Given the description of an element on the screen output the (x, y) to click on. 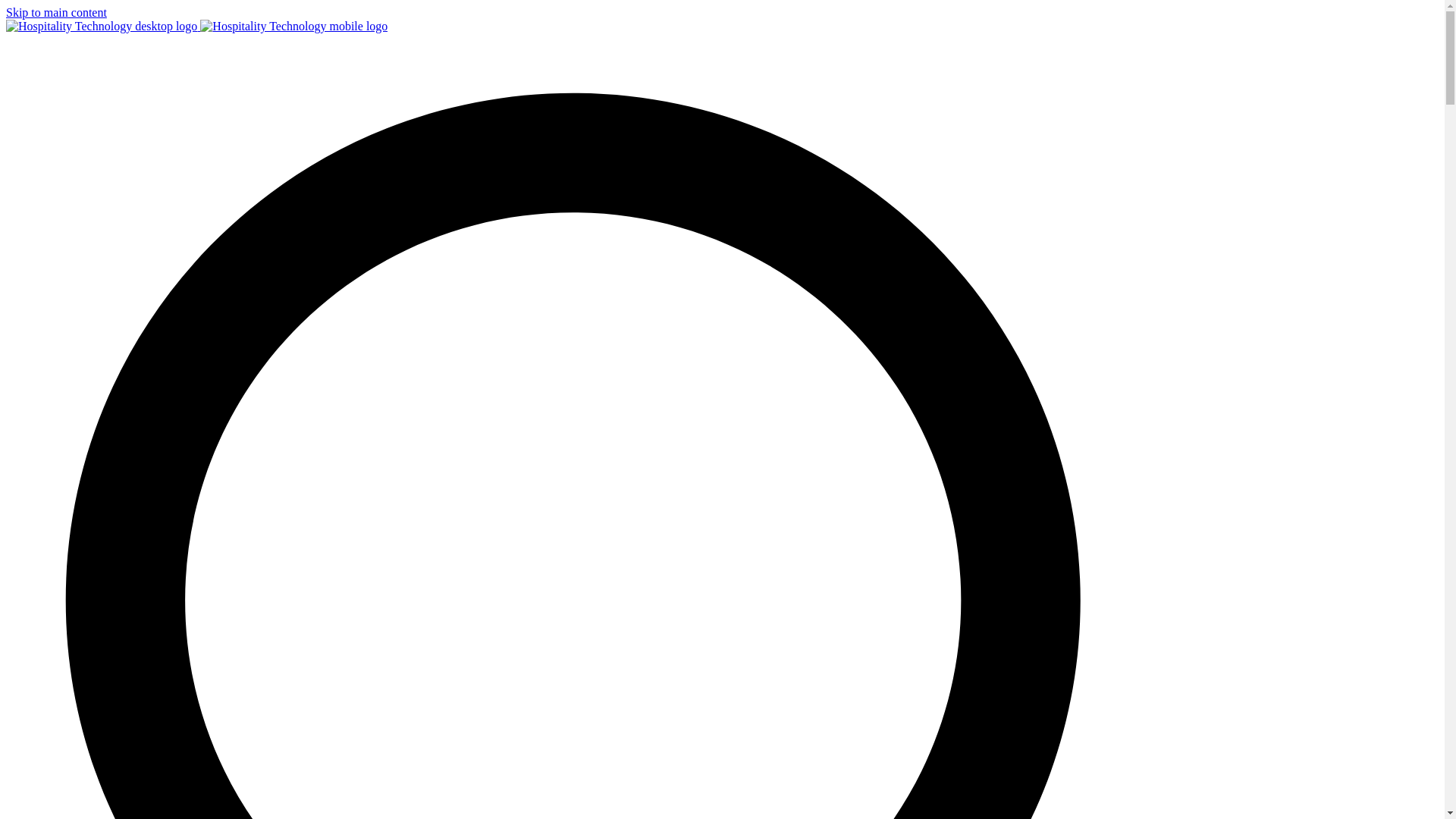
Skip to main content (55, 11)
